Given the description of an element on the screen output the (x, y) to click on. 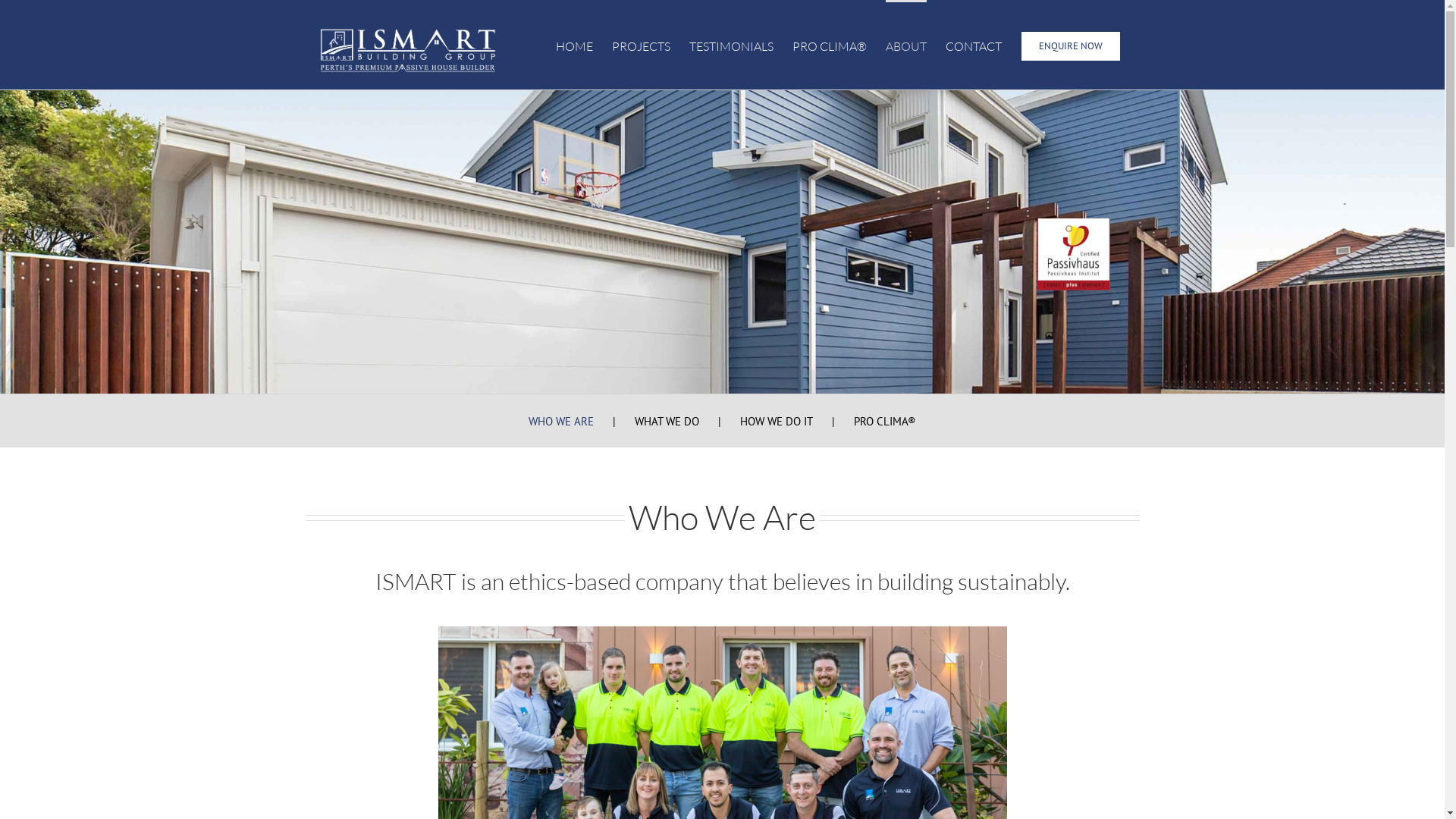
WHAT WE DO Element type: text (687, 421)
ENQUIRE NOW Element type: text (1070, 44)
WHO WE ARE Element type: text (581, 421)
TESTIMONIALS Element type: text (730, 44)
HOW WE DO IT Element type: text (796, 421)
HOME Element type: text (573, 44)
CONTACT Element type: text (972, 44)
PROJECTS Element type: text (640, 44)
ABOUT Element type: text (905, 44)
